Given the description of an element on the screen output the (x, y) to click on. 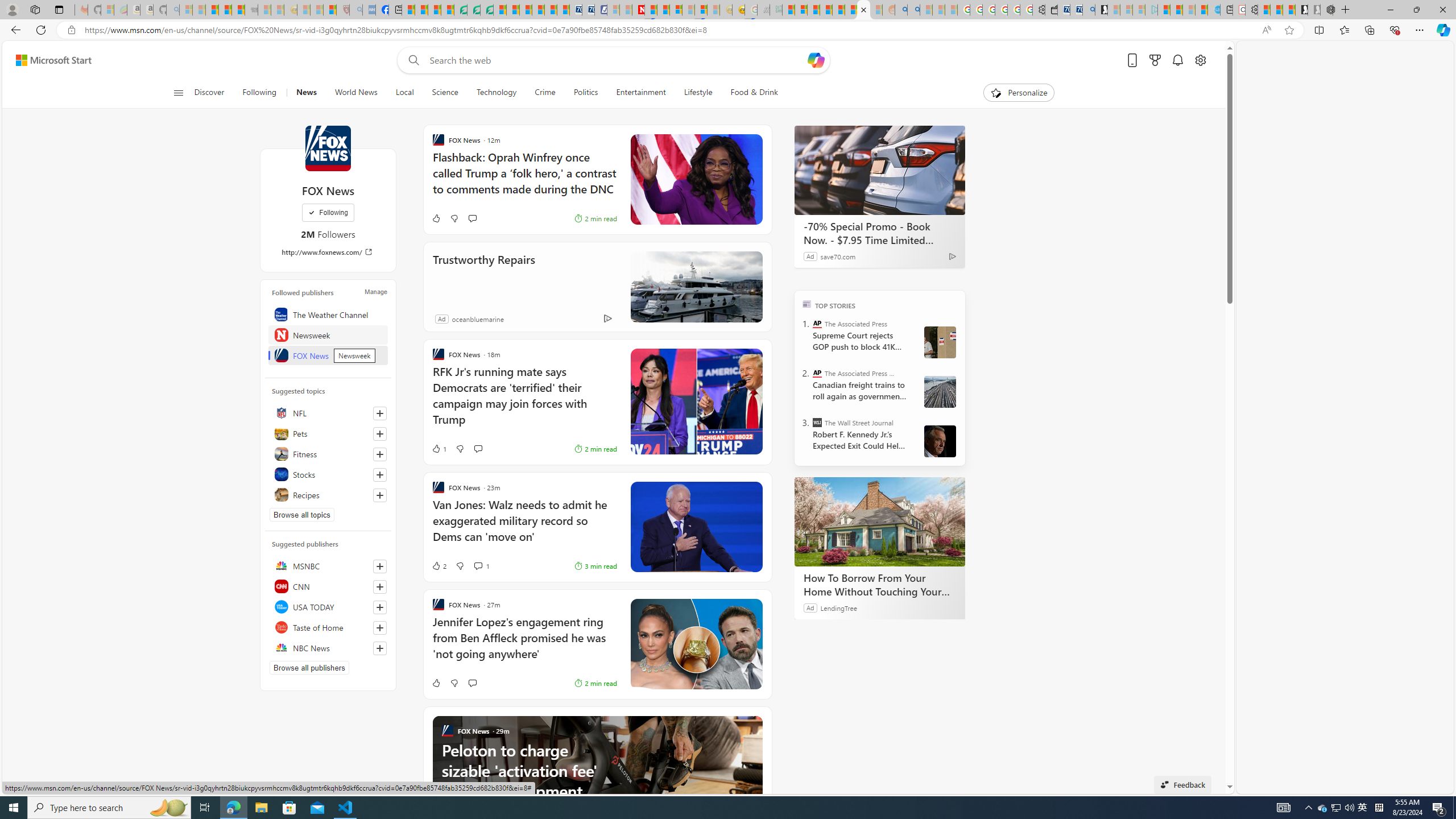
http://www.foxnews.com/ (327, 251)
